Given the description of an element on the screen output the (x, y) to click on. 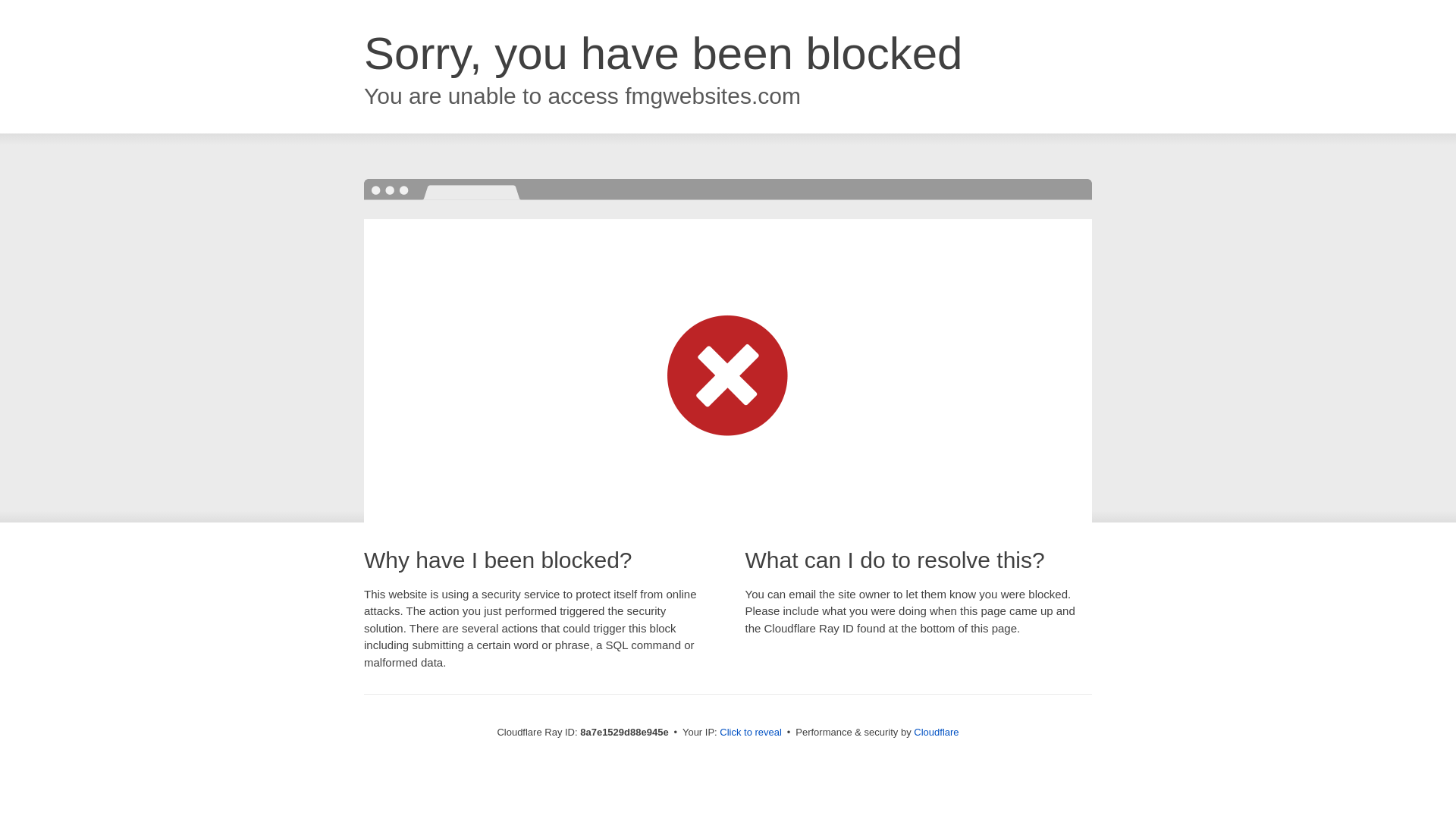
Click to reveal (750, 732)
Cloudflare (936, 731)
